Given the description of an element on the screen output the (x, y) to click on. 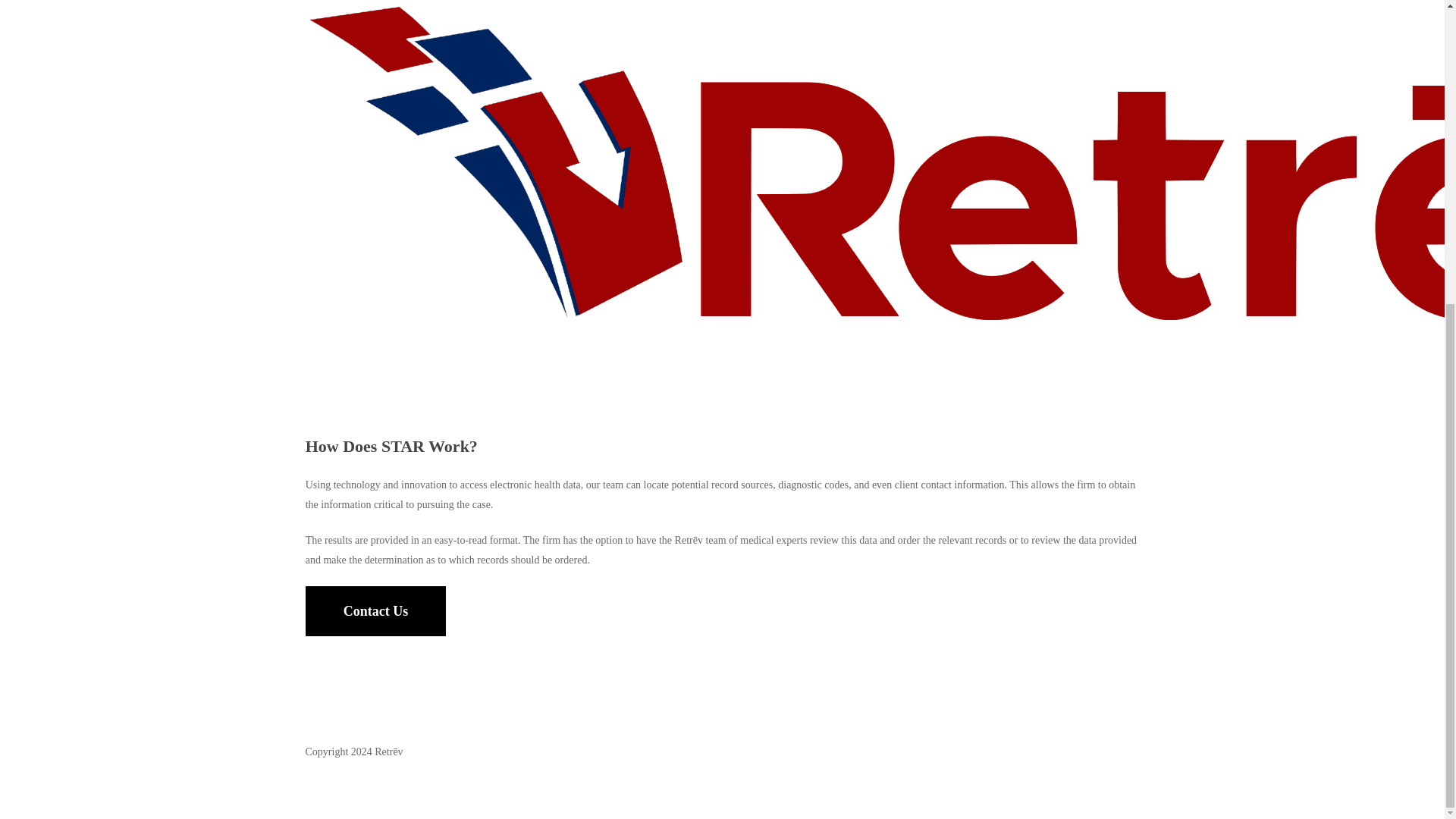
Contact Us (375, 611)
